Given the description of an element on the screen output the (x, y) to click on. 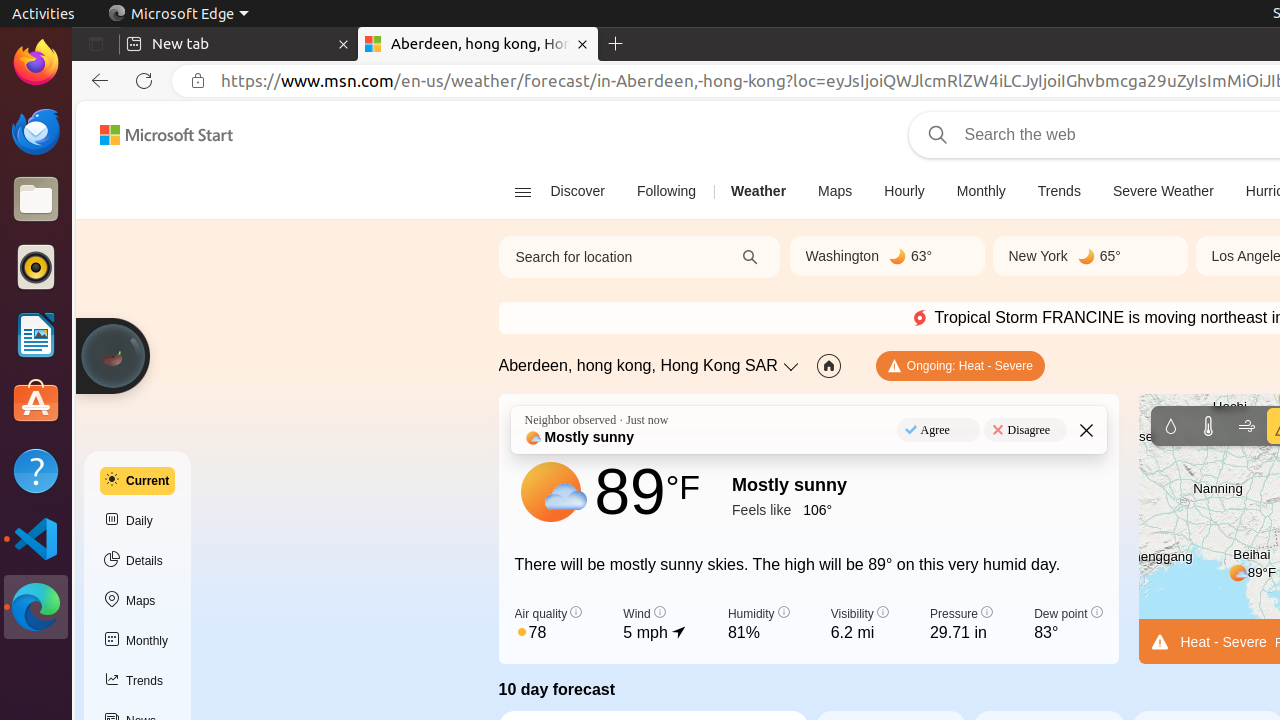
Web search Element type: push-button (933, 135)
Firefox Web Browser Element type: push-button (36, 63)
New York Element type: push-button (1038, 256)
Search for location Element type: combo-box (610, 257)
Following Element type: link (666, 192)
